Given the description of an element on the screen output the (x, y) to click on. 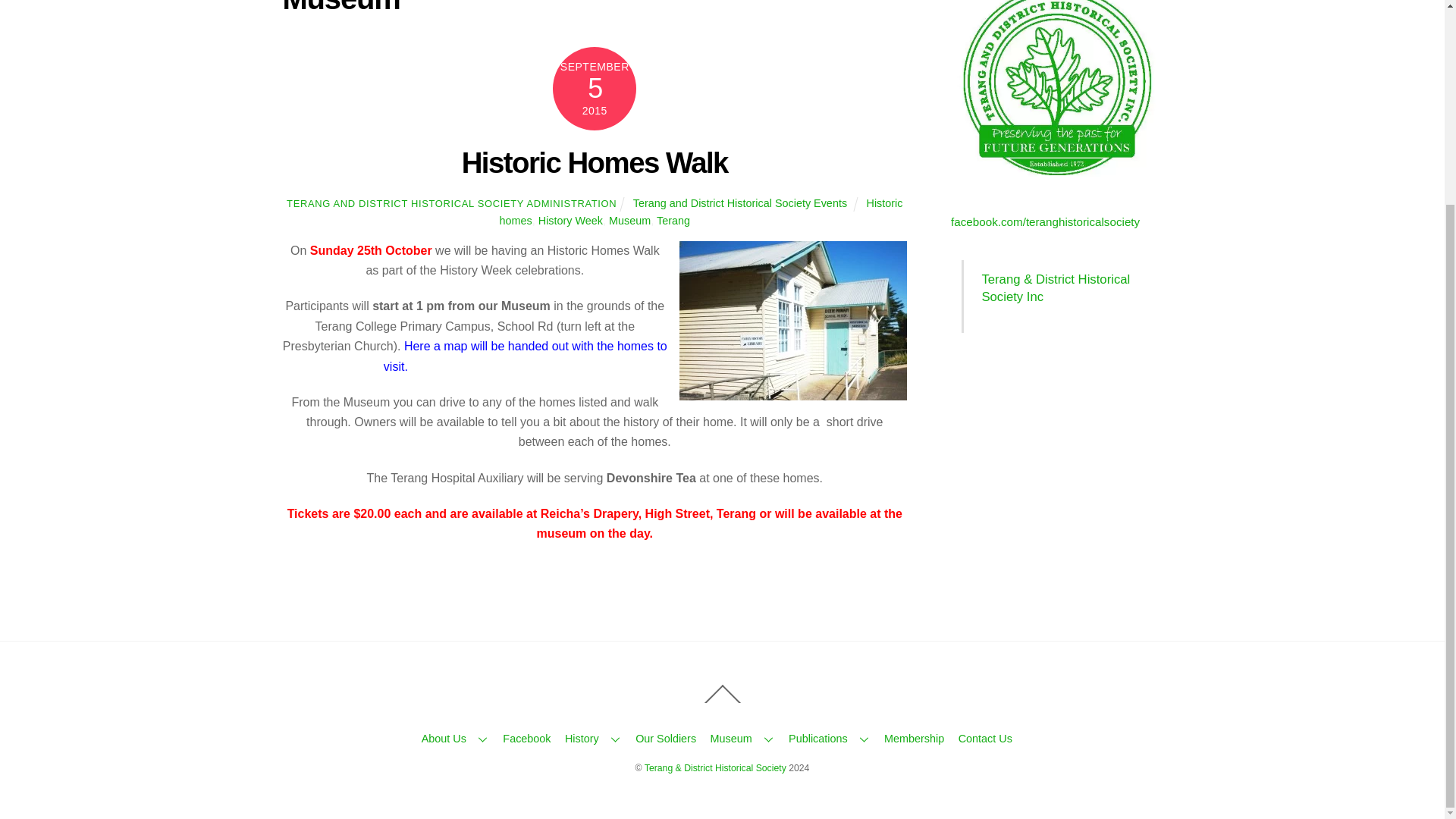
Museum (742, 738)
About Us (455, 738)
Membership (913, 738)
Terang (673, 220)
Historic Homes Walk (594, 162)
TERANG AND DISTRICT HISTORICAL SOCIETY ADMINISTRATION (450, 203)
Our Soldiers (664, 738)
Museum (629, 220)
Historic homes (700, 211)
Facebook (526, 738)
